Given the description of an element on the screen output the (x, y) to click on. 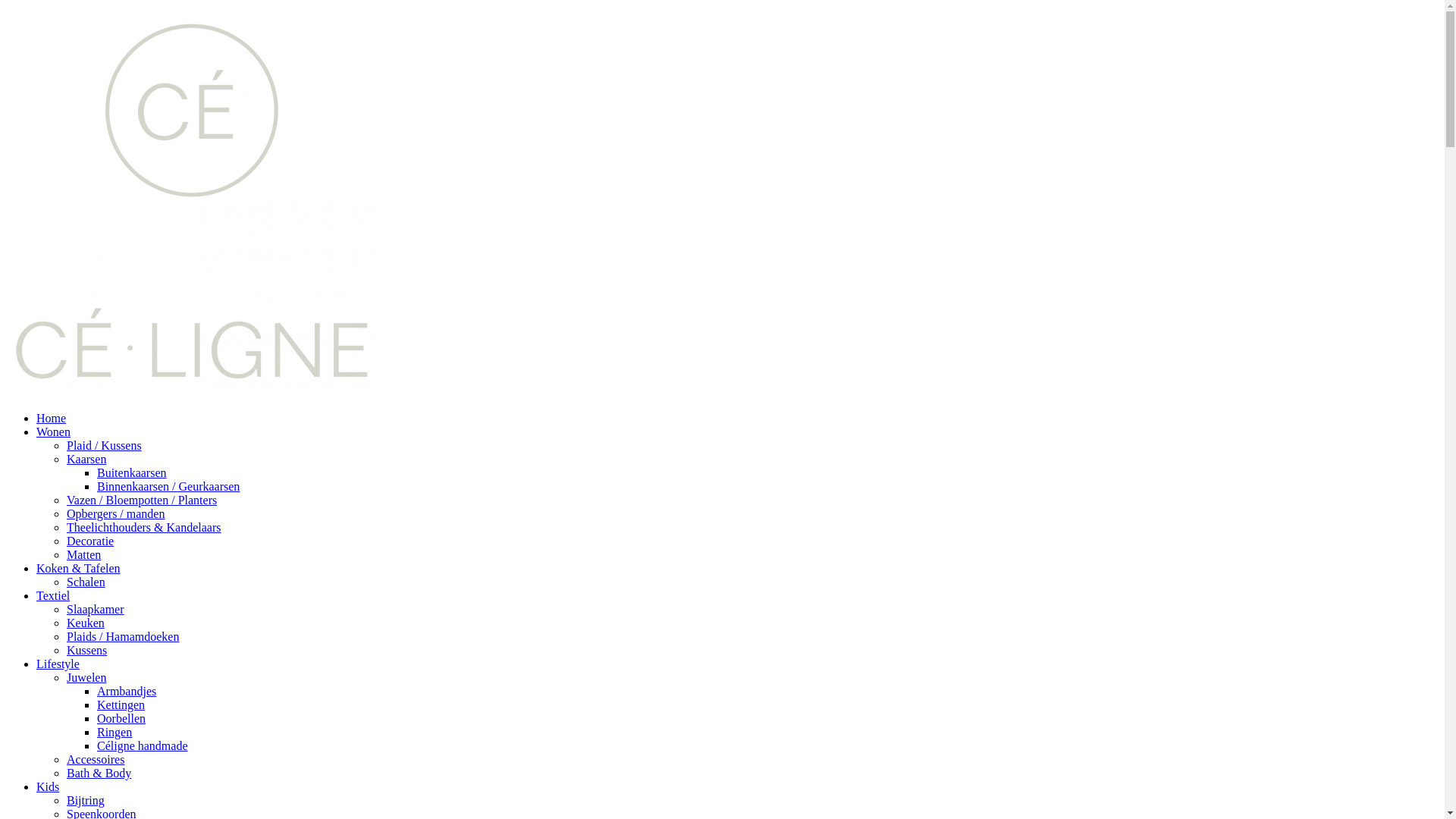
Bijtring Element type: text (85, 799)
Lifestyle Element type: text (57, 663)
Armbandjes Element type: text (126, 690)
Binnenkaarsen / Geurkaarsen Element type: text (168, 486)
sfeervolle decoratie  Element type: hover (191, 391)
Buitenkaarsen Element type: text (131, 472)
Kaarsen Element type: text (86, 458)
Plaids / Hamamdoeken Element type: text (122, 636)
Kussens Element type: text (86, 649)
Decoratie Element type: text (89, 540)
Plaid / Kussens Element type: text (103, 445)
Kettingen Element type: text (120, 704)
Slaapkamer Element type: text (95, 608)
Textiel Element type: text (52, 595)
Keuken Element type: text (85, 622)
Accessoires Element type: text (95, 759)
Ringen Element type: text (114, 731)
Opbergers / manden Element type: text (115, 513)
Kids Element type: text (47, 786)
Home Element type: text (50, 417)
Koken & Tafelen Element type: text (78, 567)
Matten Element type: text (83, 554)
Schalen Element type: text (85, 581)
Vazen / Bloempotten / Planters Element type: text (141, 499)
Wonen Element type: text (53, 431)
Juwelen Element type: text (86, 677)
Bath & Body Element type: text (98, 772)
Oorbellen Element type: text (121, 718)
Theelichthouders & Kandelaars Element type: text (143, 526)
